Given the description of an element on the screen output the (x, y) to click on. 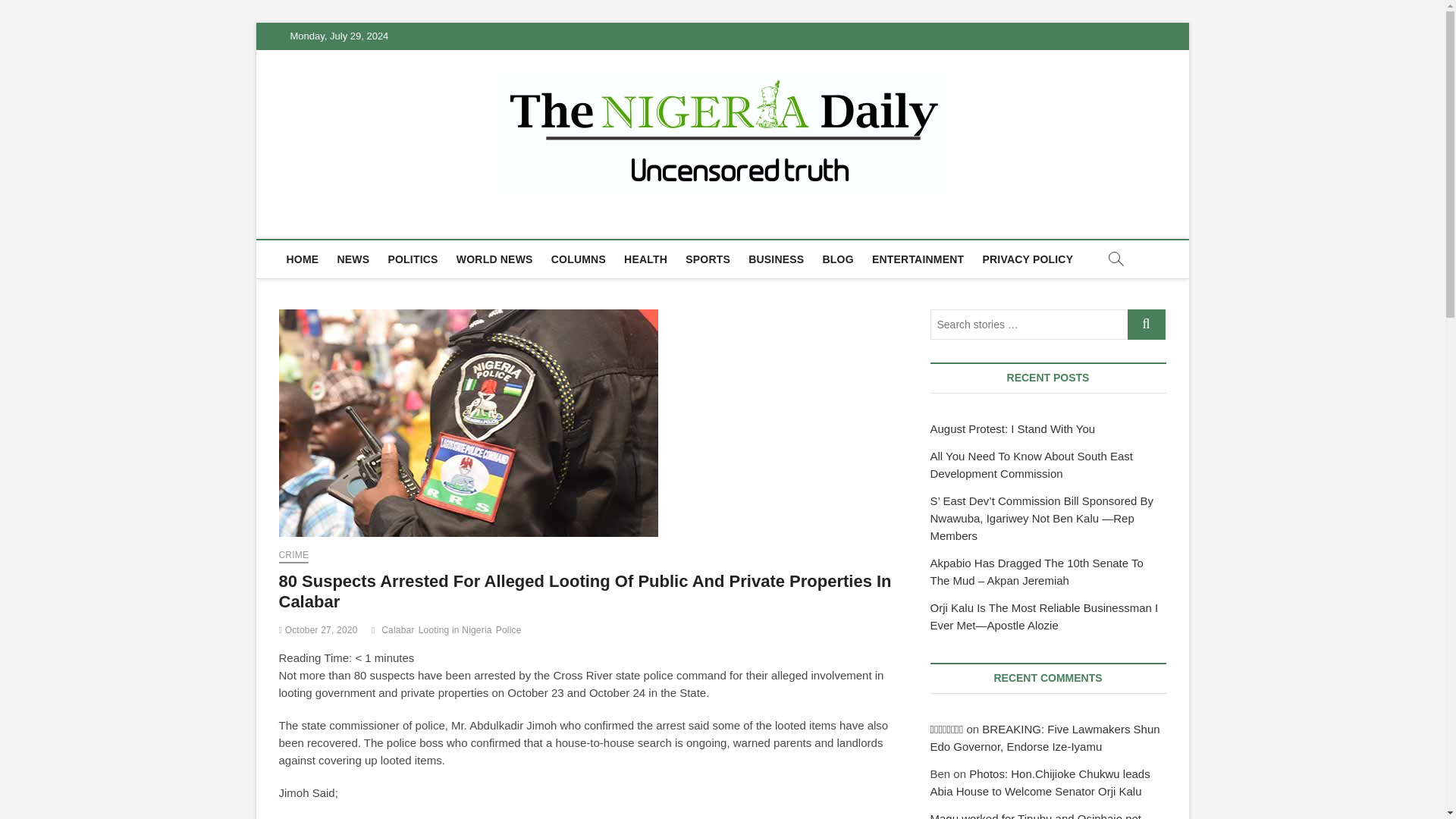
The Nigeria Daily (391, 221)
NEWS (353, 259)
Looting in Nigeria (457, 631)
August Protest: I Stand With You (1012, 428)
The Nigeria Daily (391, 221)
COLUMNS (577, 259)
BLOG (838, 259)
CRIME (293, 556)
All You Need To Know About South East Development Commission (1031, 464)
Police (510, 631)
HOME (302, 259)
SPORTS (708, 259)
HEALTH (645, 259)
